Given the description of an element on the screen output the (x, y) to click on. 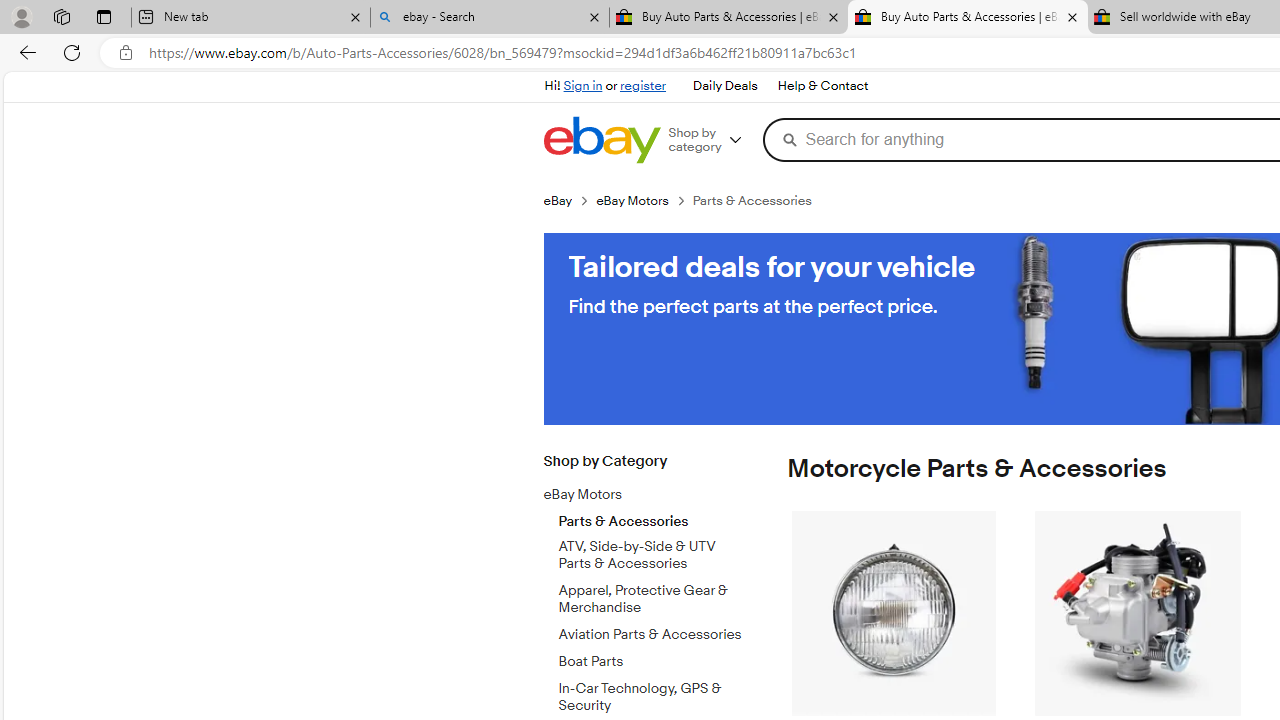
eBay Motors (653, 491)
eBay Motors (637, 495)
Help & Contact (822, 86)
In-Car Technology, GPS & Security (653, 697)
Parts & Accessories (653, 516)
Daily Deals (724, 86)
Aviation Parts & Accessories (653, 635)
ATV, Side-by-Side & UTV Parts & Accessories (653, 555)
In-Car Technology, GPS & Security (653, 693)
Boat Parts (653, 658)
Daily Deals (724, 85)
